Given the description of an element on the screen output the (x, y) to click on. 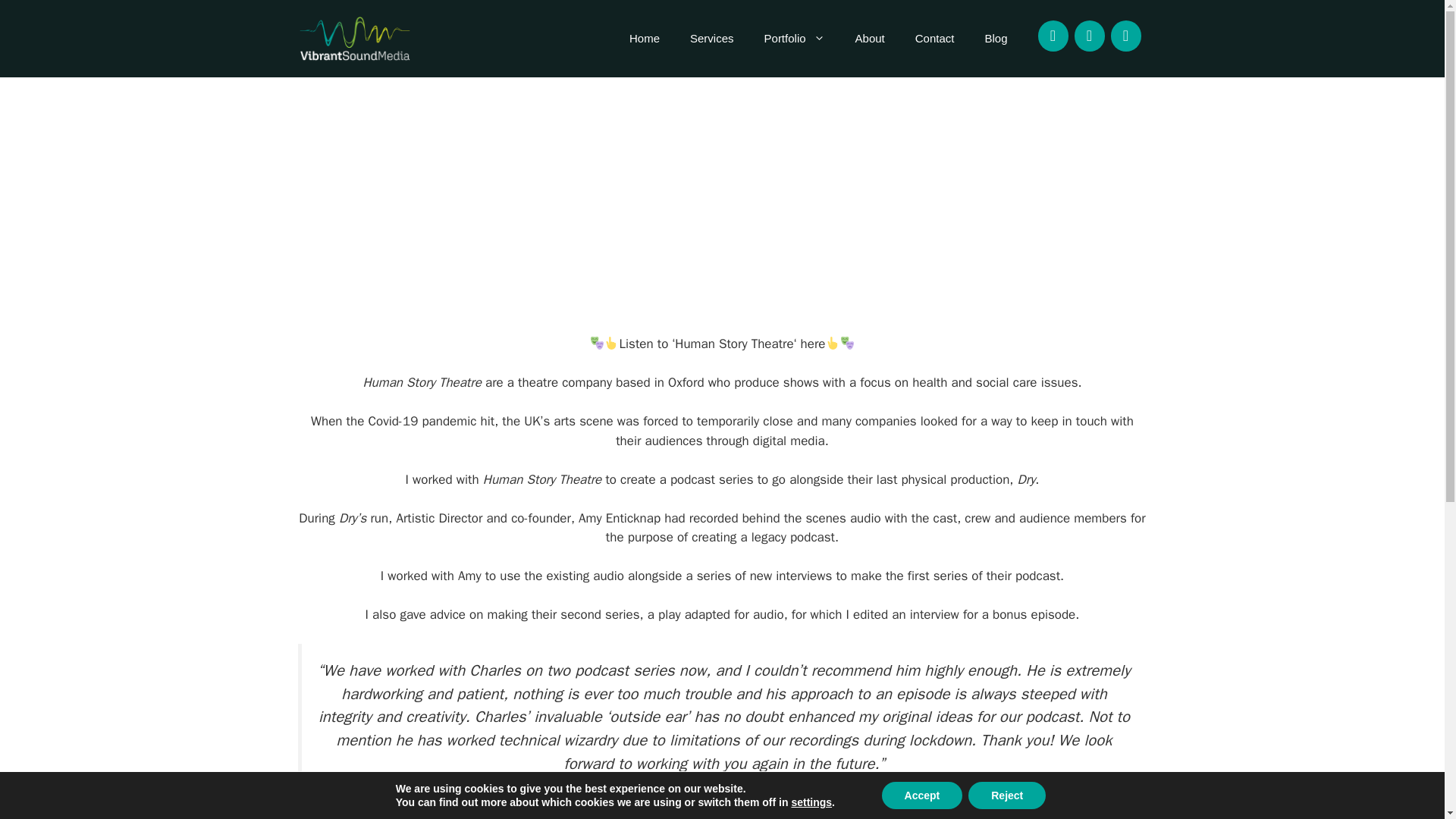
About (869, 38)
Home (644, 38)
Blog (995, 38)
Services (712, 38)
Portfolio (794, 38)
LinkedIn (1088, 35)
Instagram (1124, 35)
Contact (934, 38)
Twitter (1051, 35)
